Given the description of an element on the screen output the (x, y) to click on. 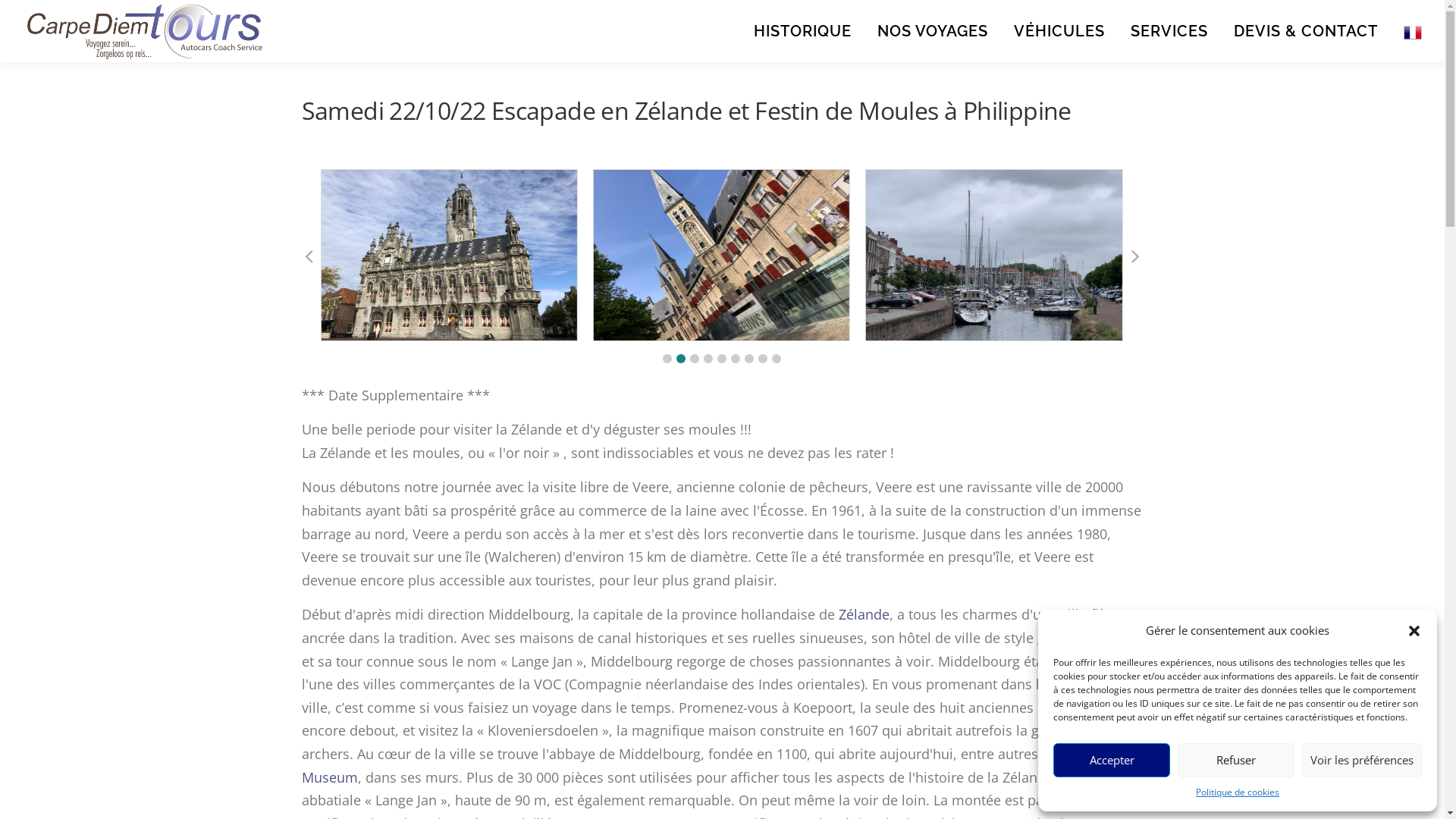
NOS VOYAGES Element type: text (932, 31)
HISTORIQUE Element type: text (802, 31)
Zeeuws Museum Element type: text (705, 765)
French Element type: hover (1405, 31)
DEVIS & CONTACT Element type: text (1305, 31)
SERVICES Element type: text (1168, 31)
Accepter Element type: text (1111, 760)
Refuser Element type: text (1235, 760)
Politique de cookies Element type: text (1237, 792)
